Given the description of an element on the screen output the (x, y) to click on. 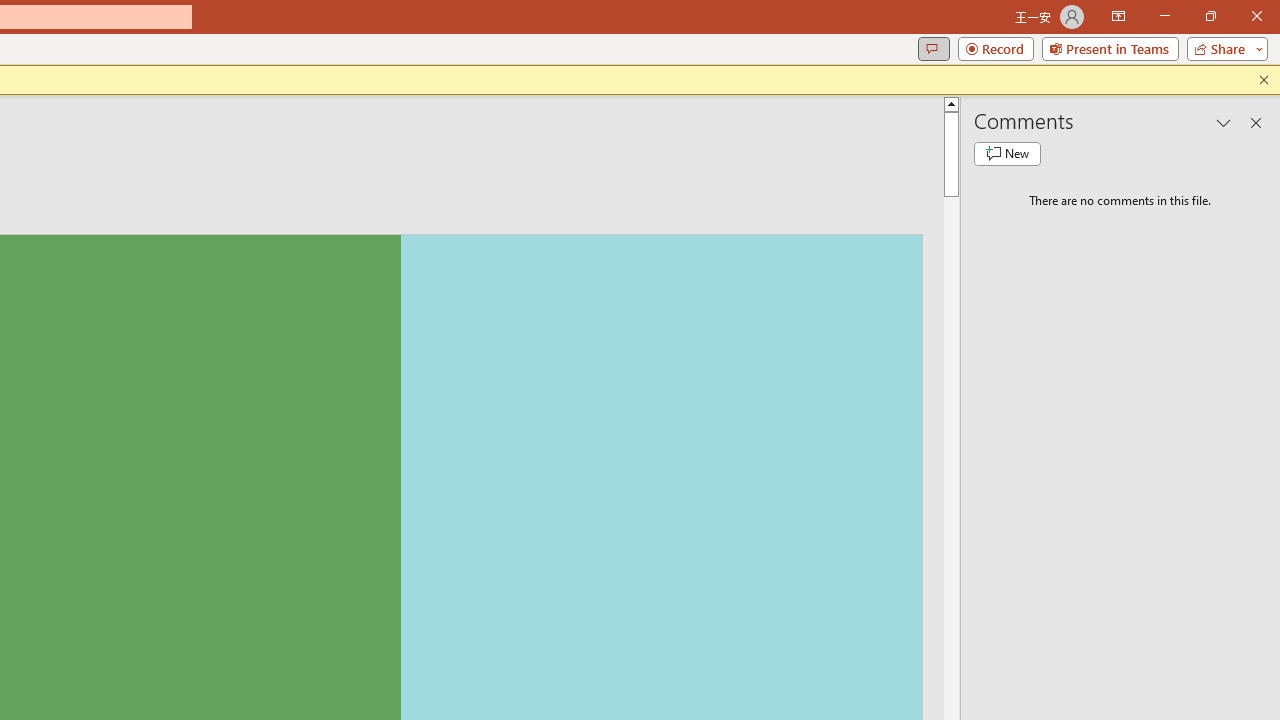
Close this message (1263, 80)
New comment (1007, 153)
